Given the description of an element on the screen output the (x, y) to click on. 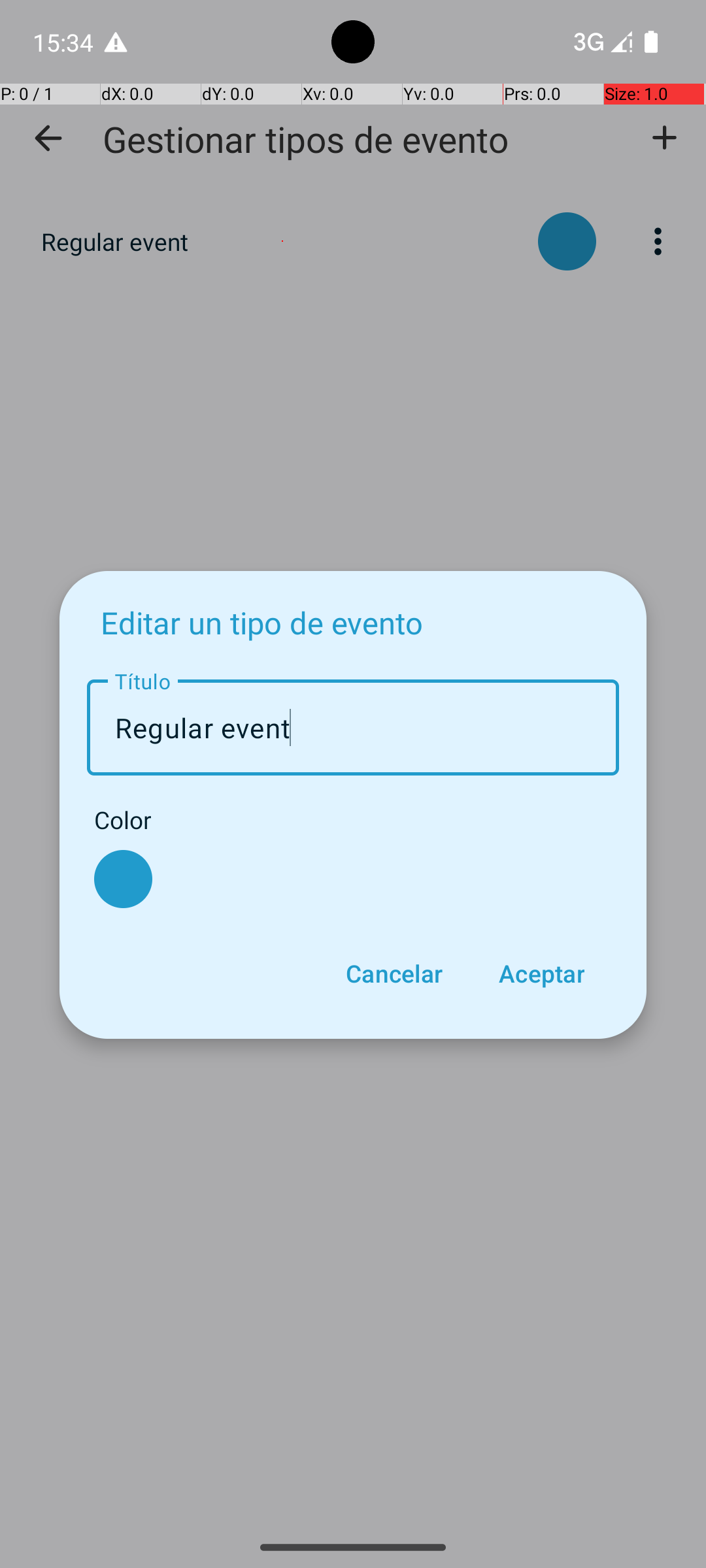
Editar un tipo de evento Element type: android.widget.TextView (261, 621)
Regular event Element type: android.widget.EditText (352, 727)
Cancelar Element type: android.widget.Button (393, 973)
Aceptar Element type: android.widget.Button (541, 973)
